Given the description of an element on the screen output the (x, y) to click on. 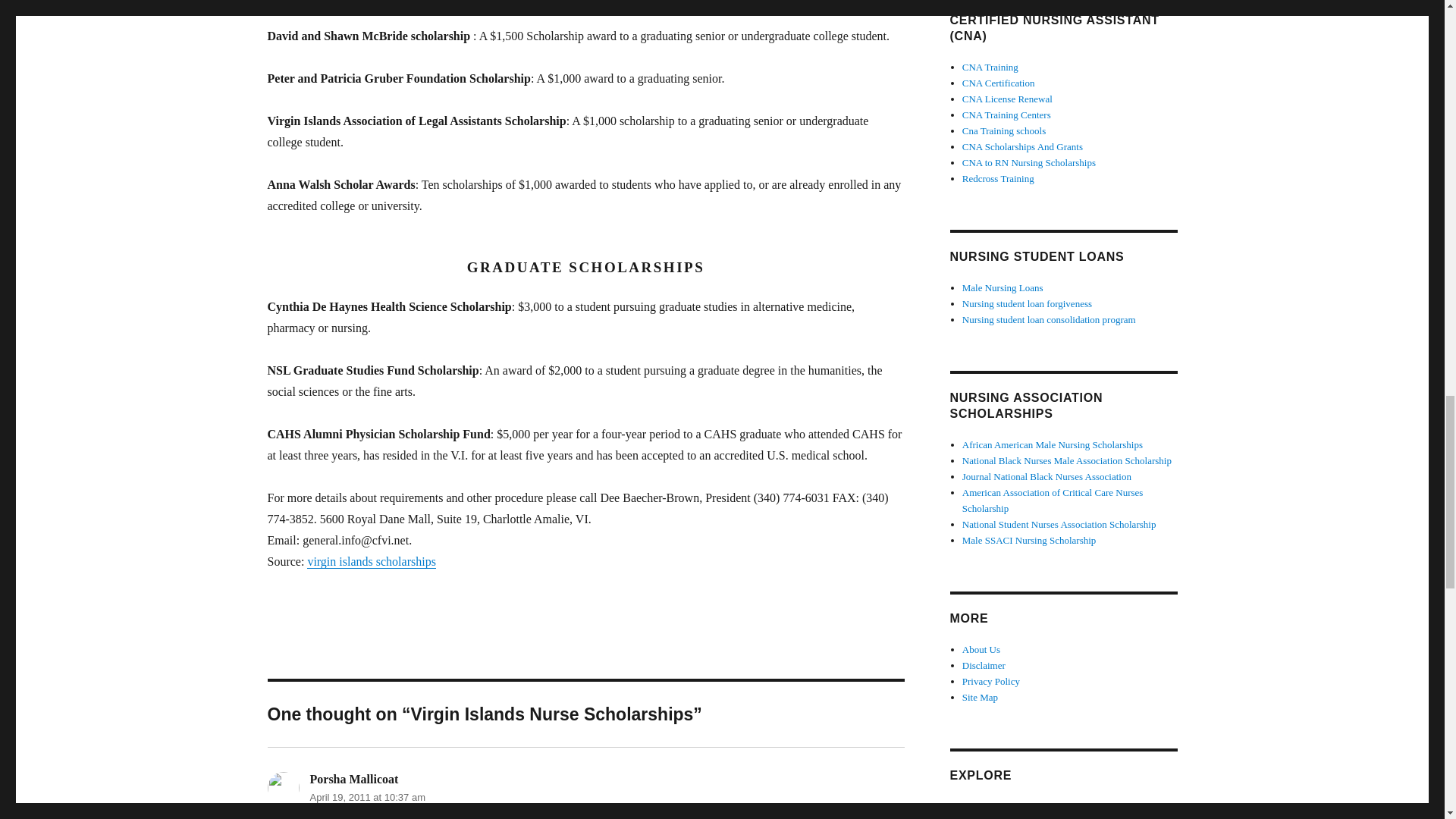
scholarships in the virgin islands (371, 561)
virgin islands scholarships (371, 561)
April 19, 2011 at 10:37 am (366, 797)
